Given the description of an element on the screen output the (x, y) to click on. 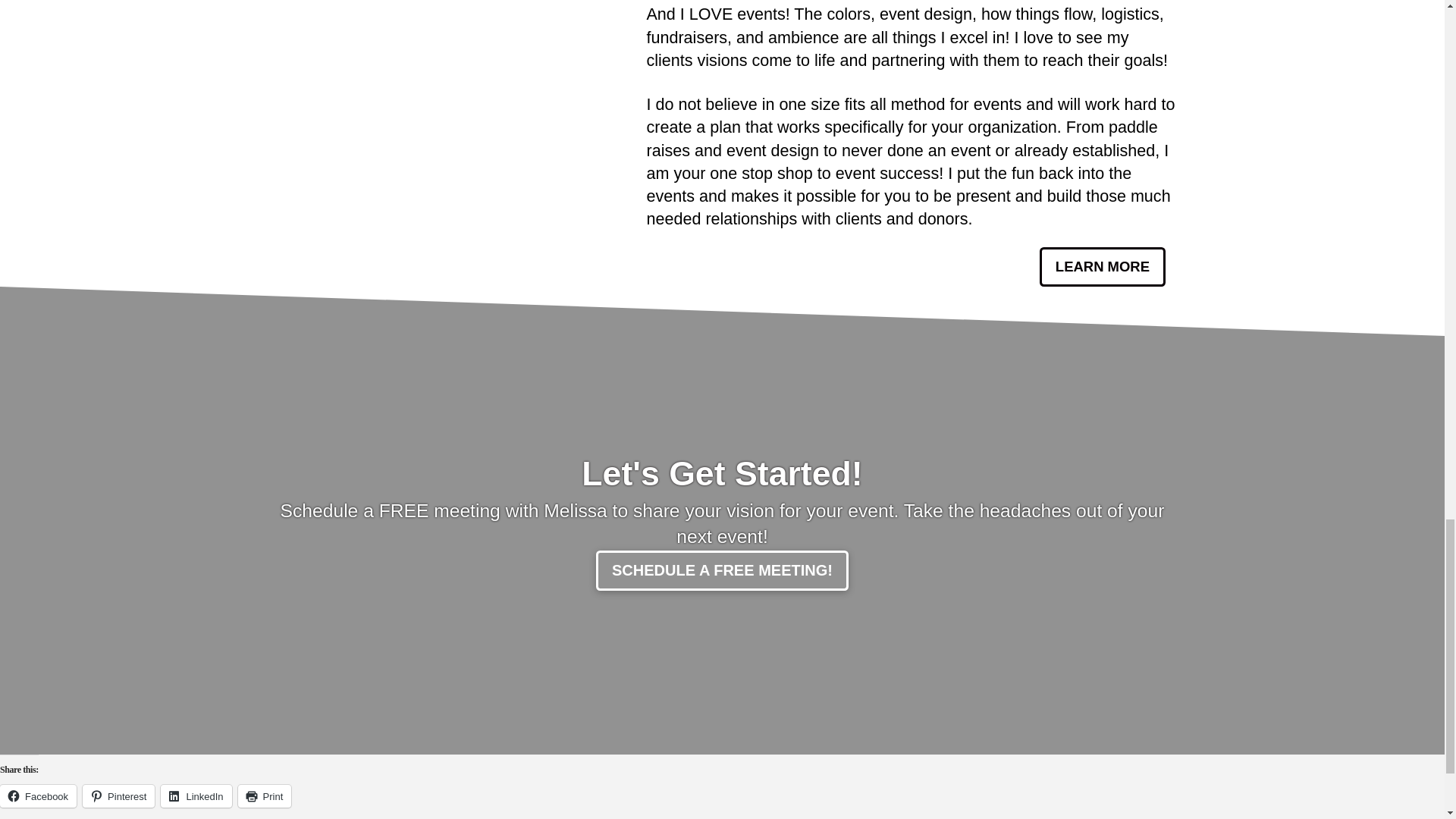
SCHEDULE A FREE MEETING! (721, 570)
Click to share on LinkedIn (195, 795)
Click to share on Facebook (38, 795)
Pinterest (118, 795)
LinkedIn (195, 795)
Facebook (38, 795)
Print (265, 795)
Click to print (265, 795)
Click to share on Pinterest (118, 795)
LEARN MORE (1102, 266)
